Given the description of an element on the screen output the (x, y) to click on. 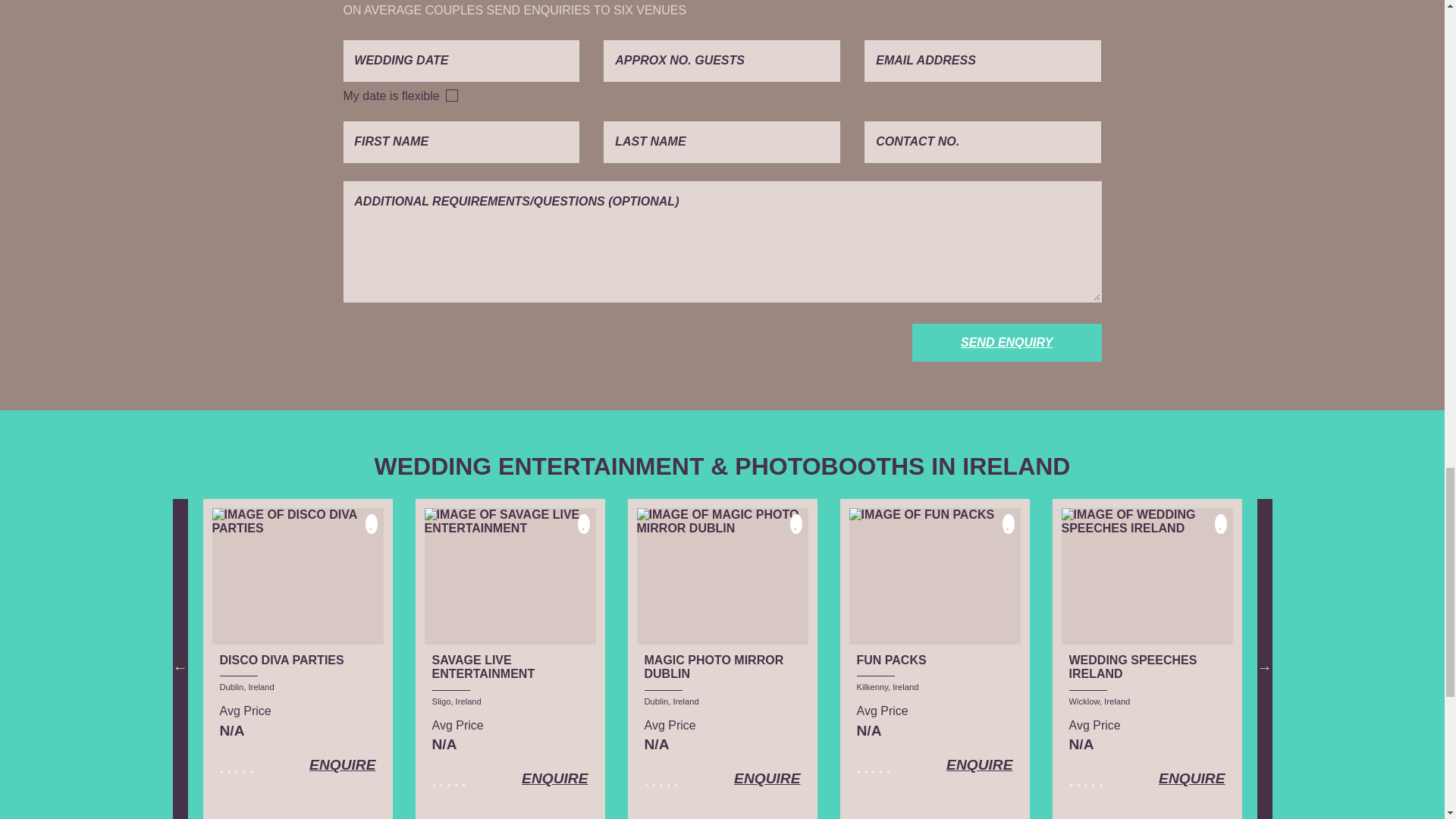
on (451, 95)
